Given the description of an element on the screen output the (x, y) to click on. 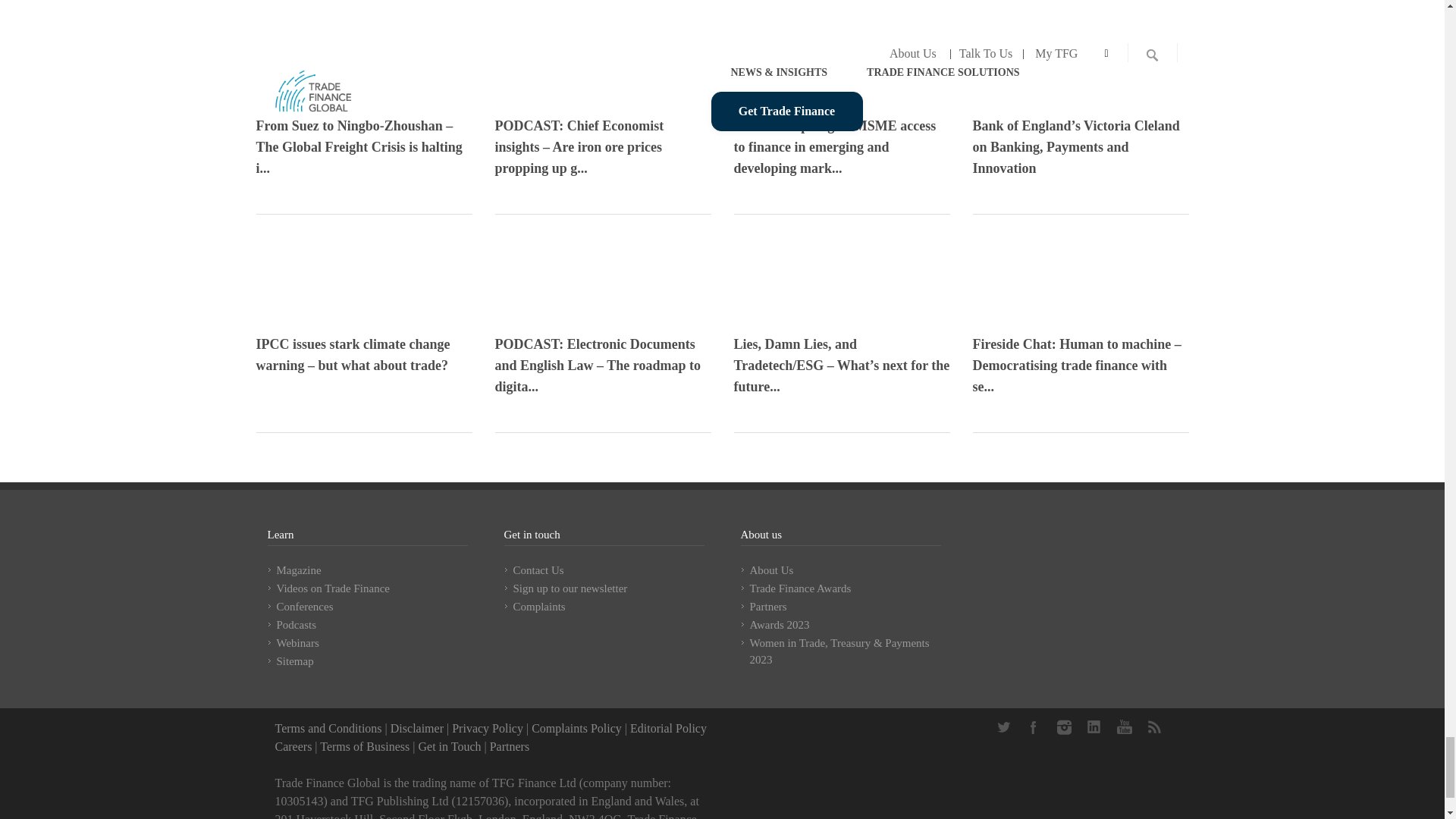
Trade Finance Jobs (293, 746)
Terms of Business (364, 746)
Contact Us (448, 746)
Privacy Policy (486, 727)
Disclaimer (417, 727)
Editorial Policy (668, 727)
Complaints Policy (576, 727)
Terms and Conditions (328, 727)
